Given the description of an element on the screen output the (x, y) to click on. 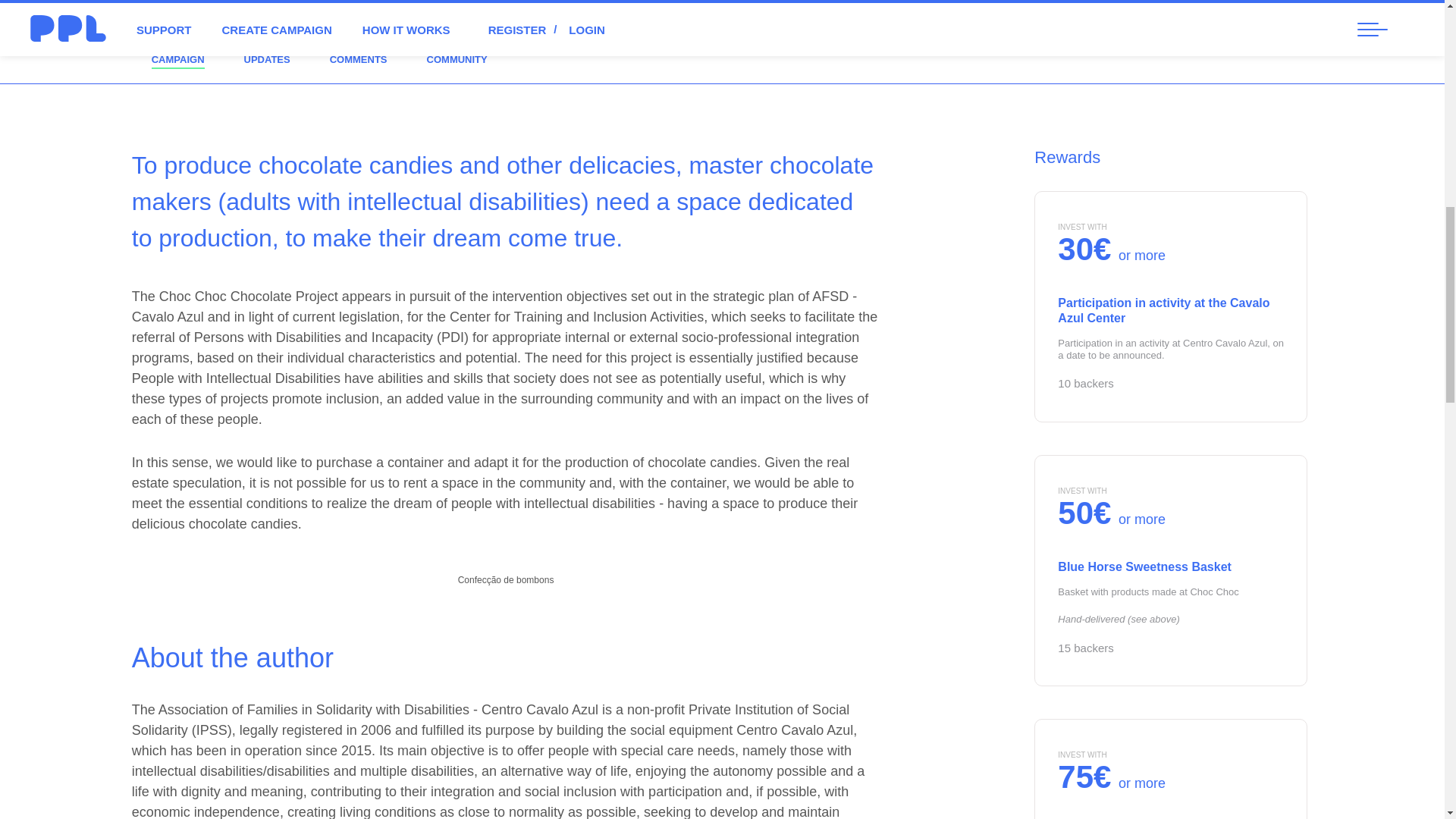
CAMPAIGN (178, 59)
